Given the description of an element on the screen output the (x, y) to click on. 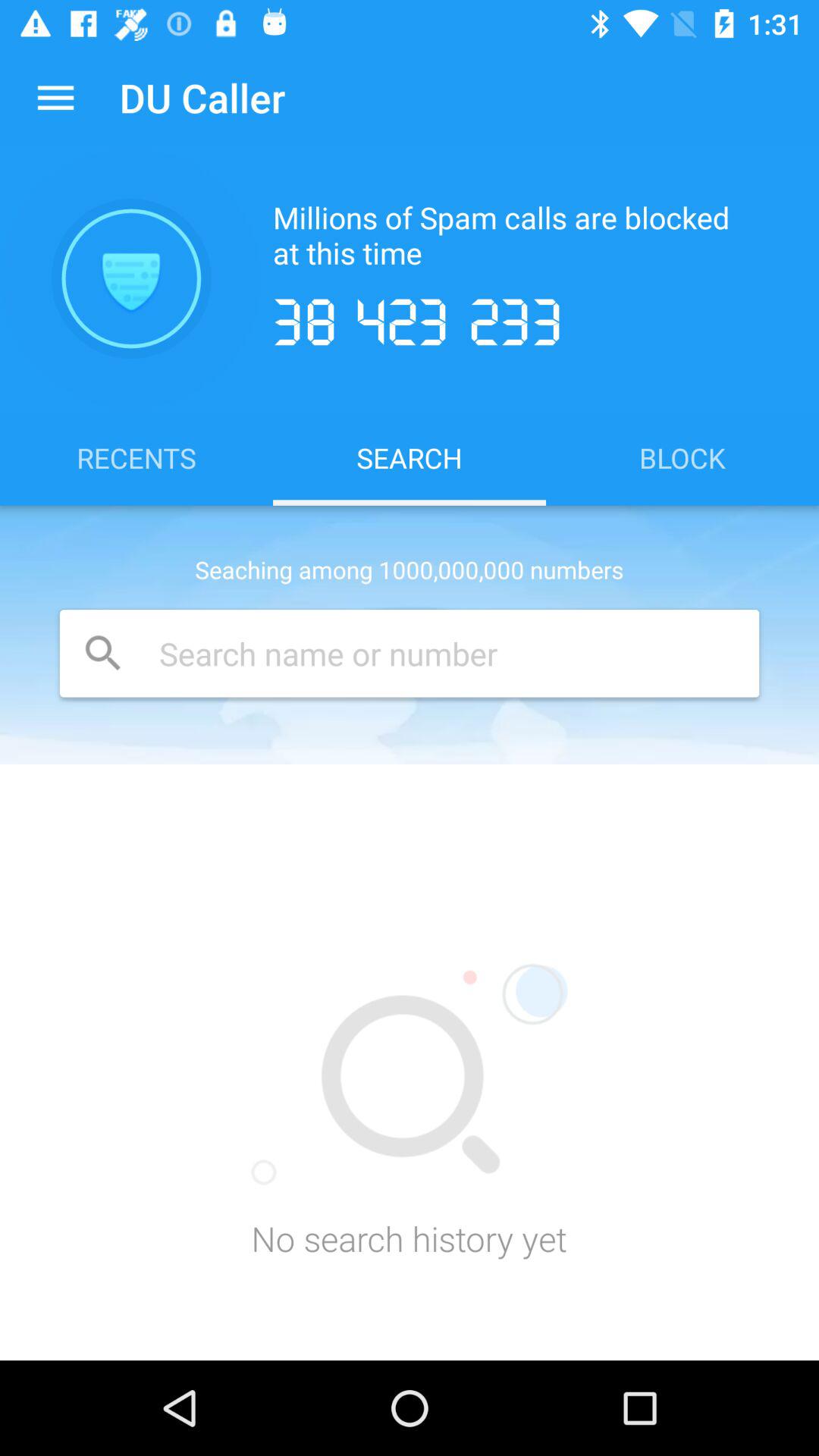
flip to the block (682, 457)
